Given the description of an element on the screen output the (x, y) to click on. 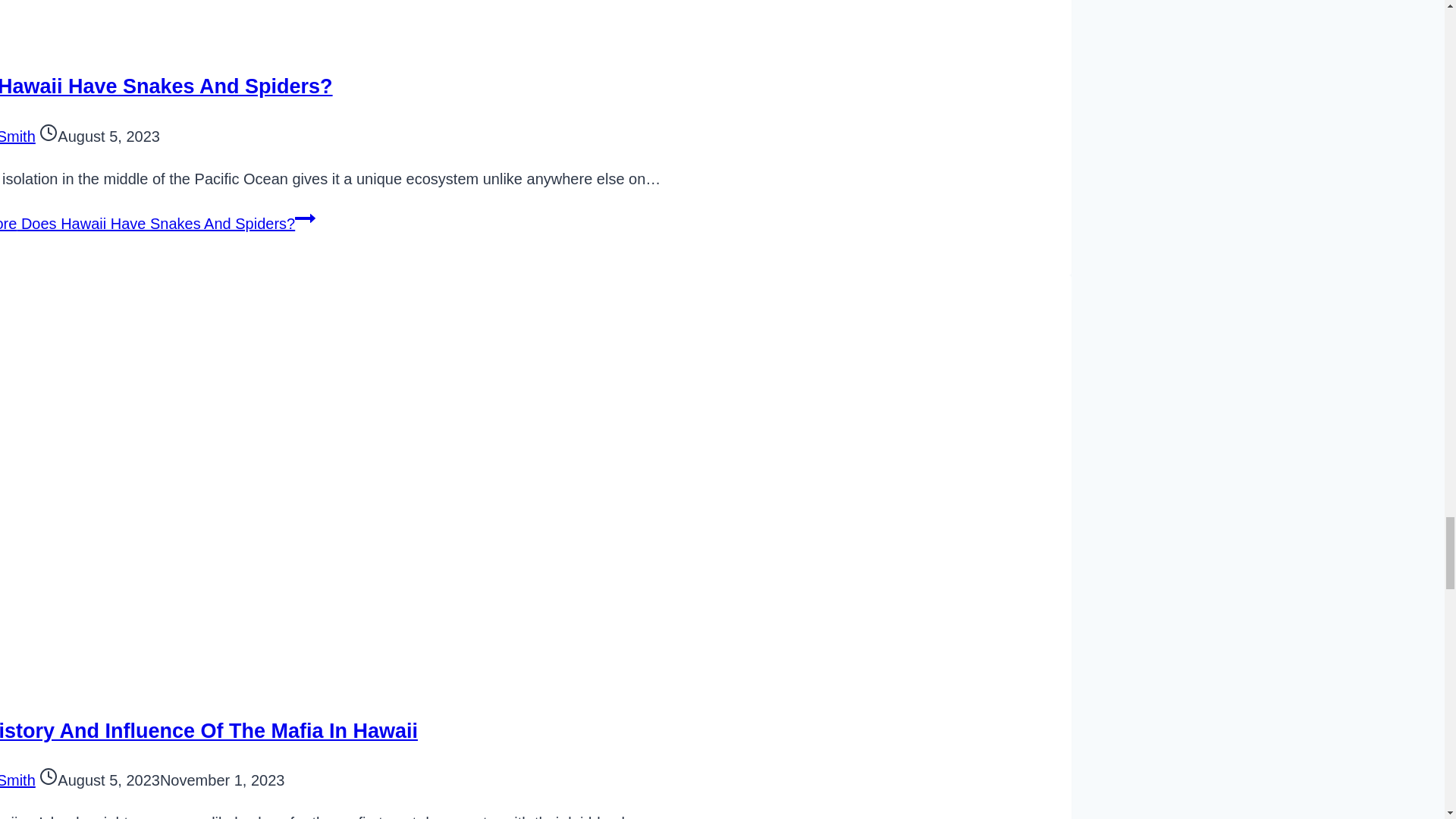
Jane Smith (17, 135)
Does Hawaii Have Snakes And Spiders? (165, 86)
Read More Does Hawaii Have Snakes And Spiders? (157, 223)
The History And Influence Of The Mafia In Hawaii (208, 730)
Jane Smith (17, 780)
